Given the description of an element on the screen output the (x, y) to click on. 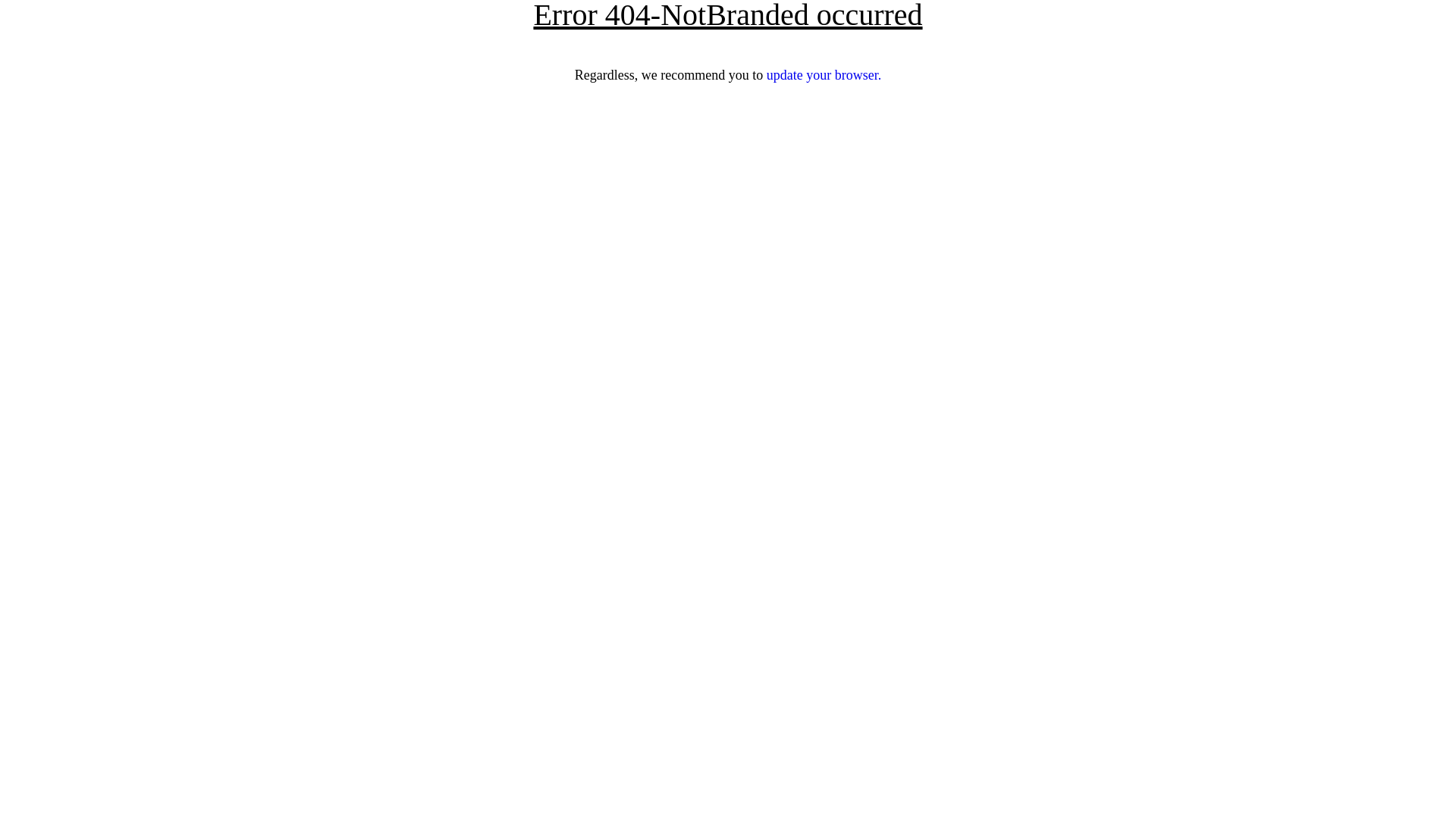
update your browser. Element type: text (823, 74)
